Given the description of an element on the screen output the (x, y) to click on. 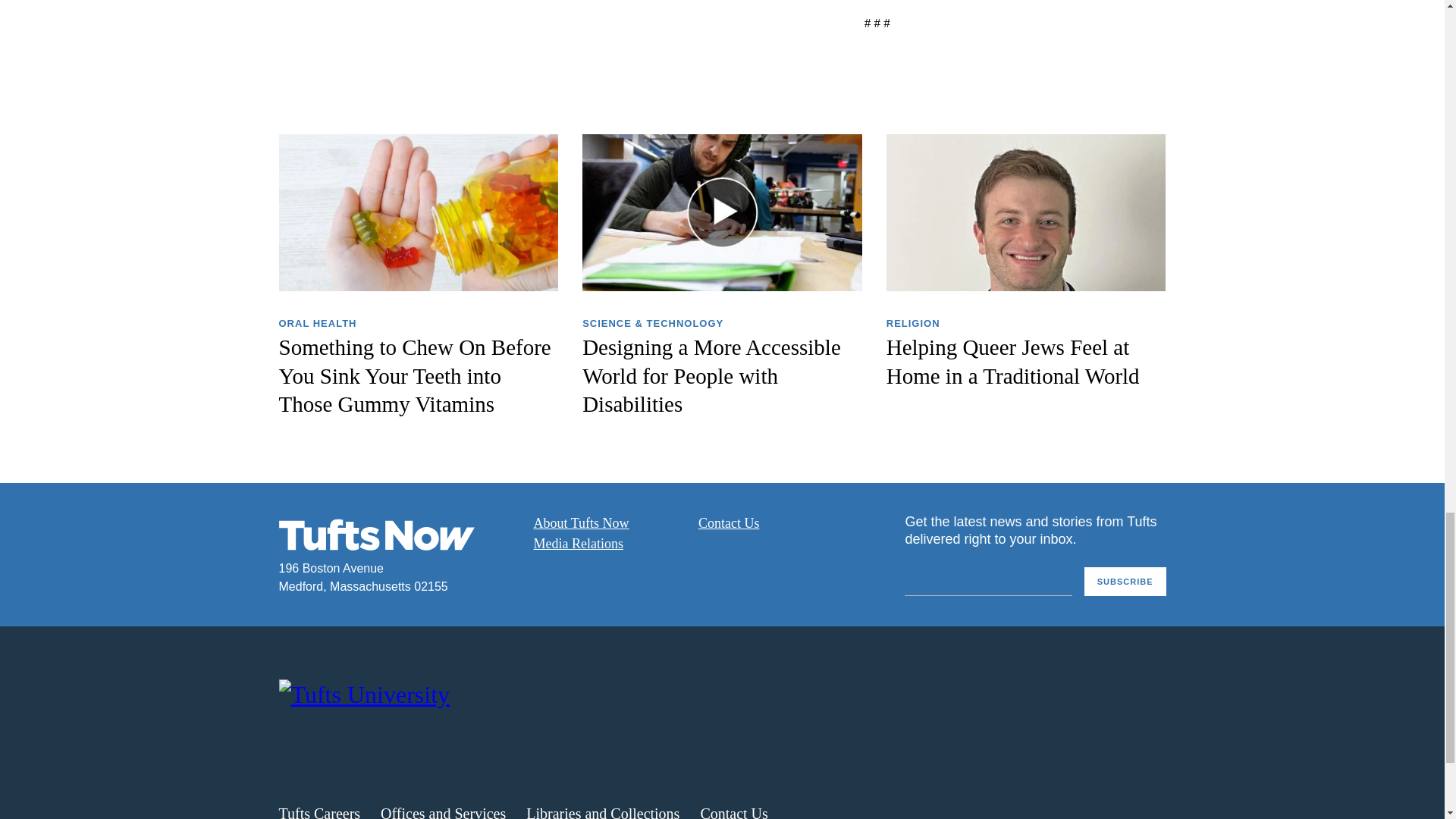
Subscribe (1125, 582)
